Given the description of an element on the screen output the (x, y) to click on. 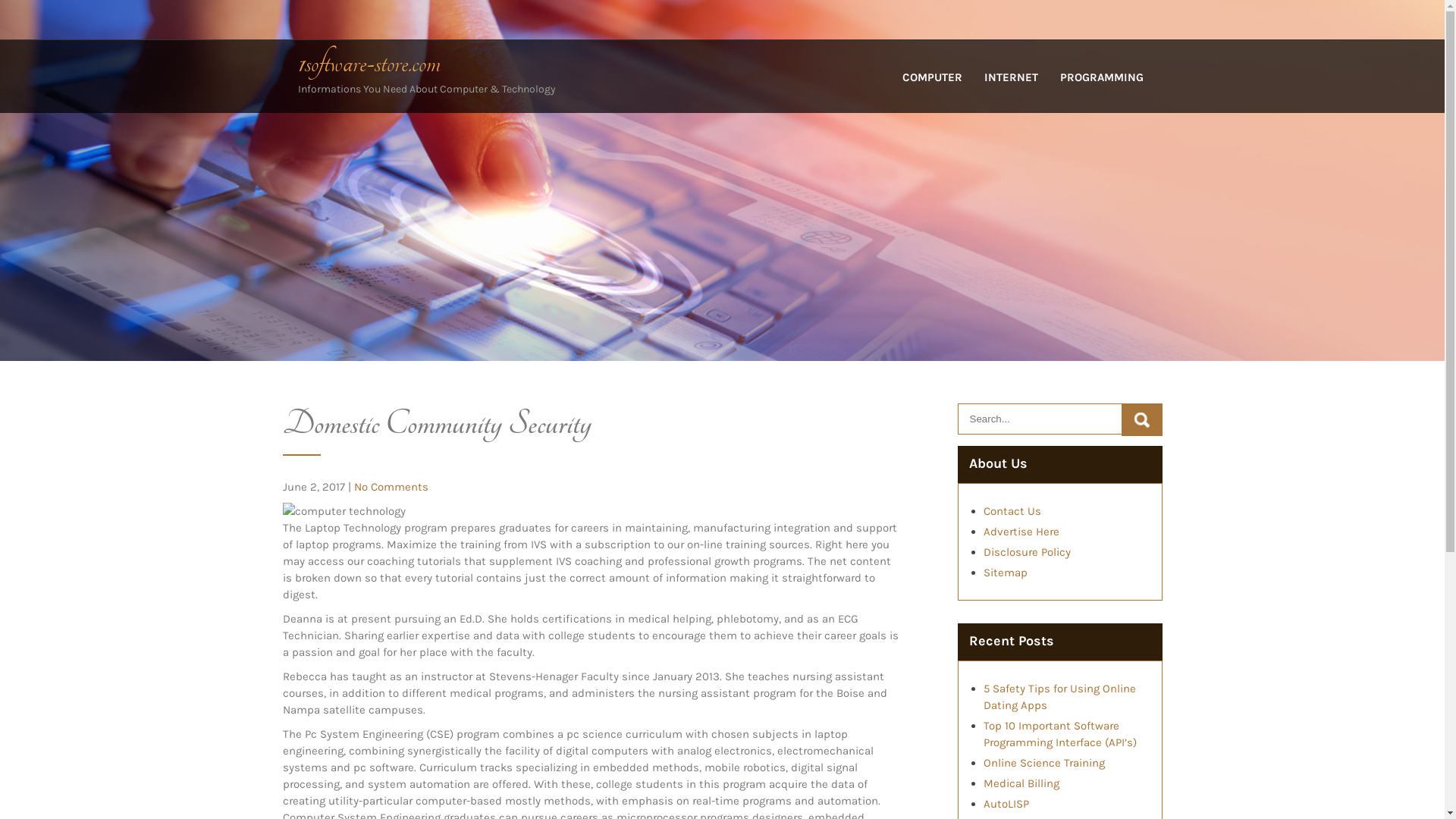
Contact Us Element type: text (1011, 510)
INTERNET Element type: text (1011, 87)
1software-store.com Element type: text (368, 62)
PROGRAMMING Element type: text (1101, 87)
Advertise Here Element type: text (1020, 531)
Medical Billing Element type: text (1020, 783)
COMPUTER Element type: text (932, 87)
No Comments Element type: text (390, 486)
Disclosure Policy Element type: text (1026, 551)
5 Safety Tips for Using Online Dating Apps Element type: text (1058, 696)
Sitemap Element type: text (1004, 572)
Online Science Training Element type: text (1043, 762)
AutoLISP Element type: text (1005, 803)
Search Element type: text (1140, 419)
